Given the description of an element on the screen output the (x, y) to click on. 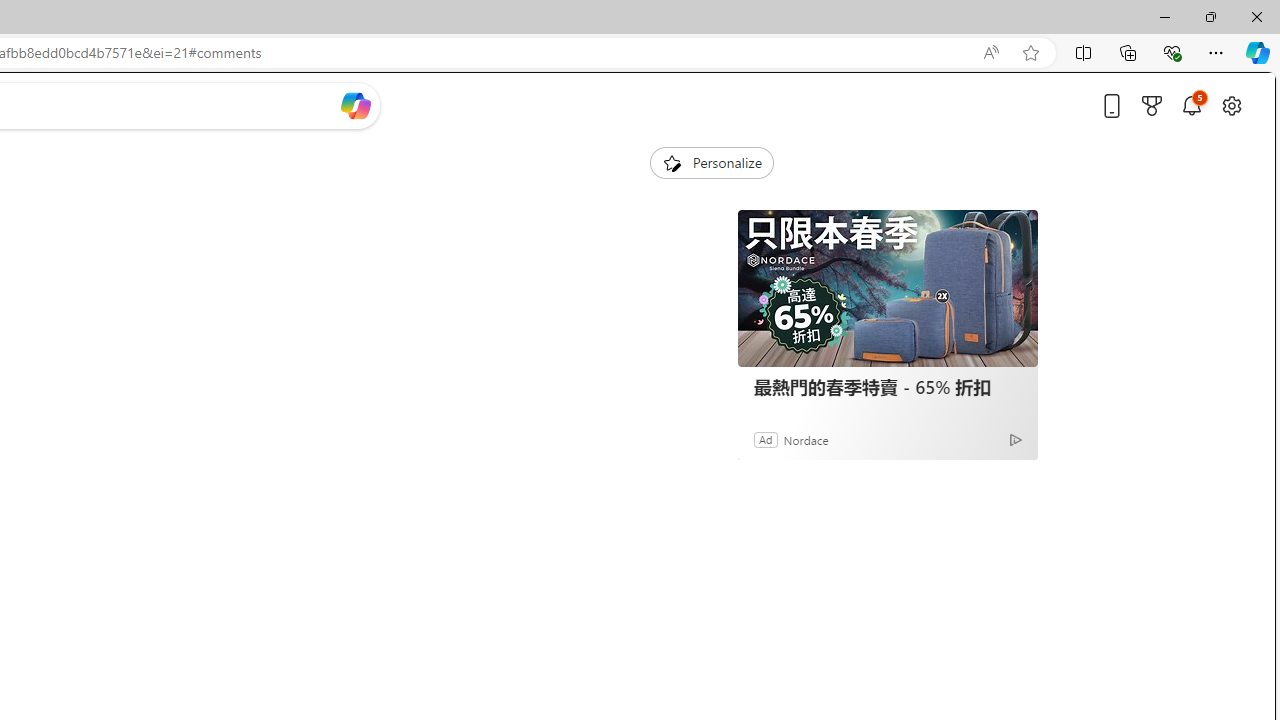
To get missing image descriptions, open the context menu. (671, 162)
Personalize (711, 162)
Open settings (1231, 105)
